Given the description of an element on the screen output the (x, y) to click on. 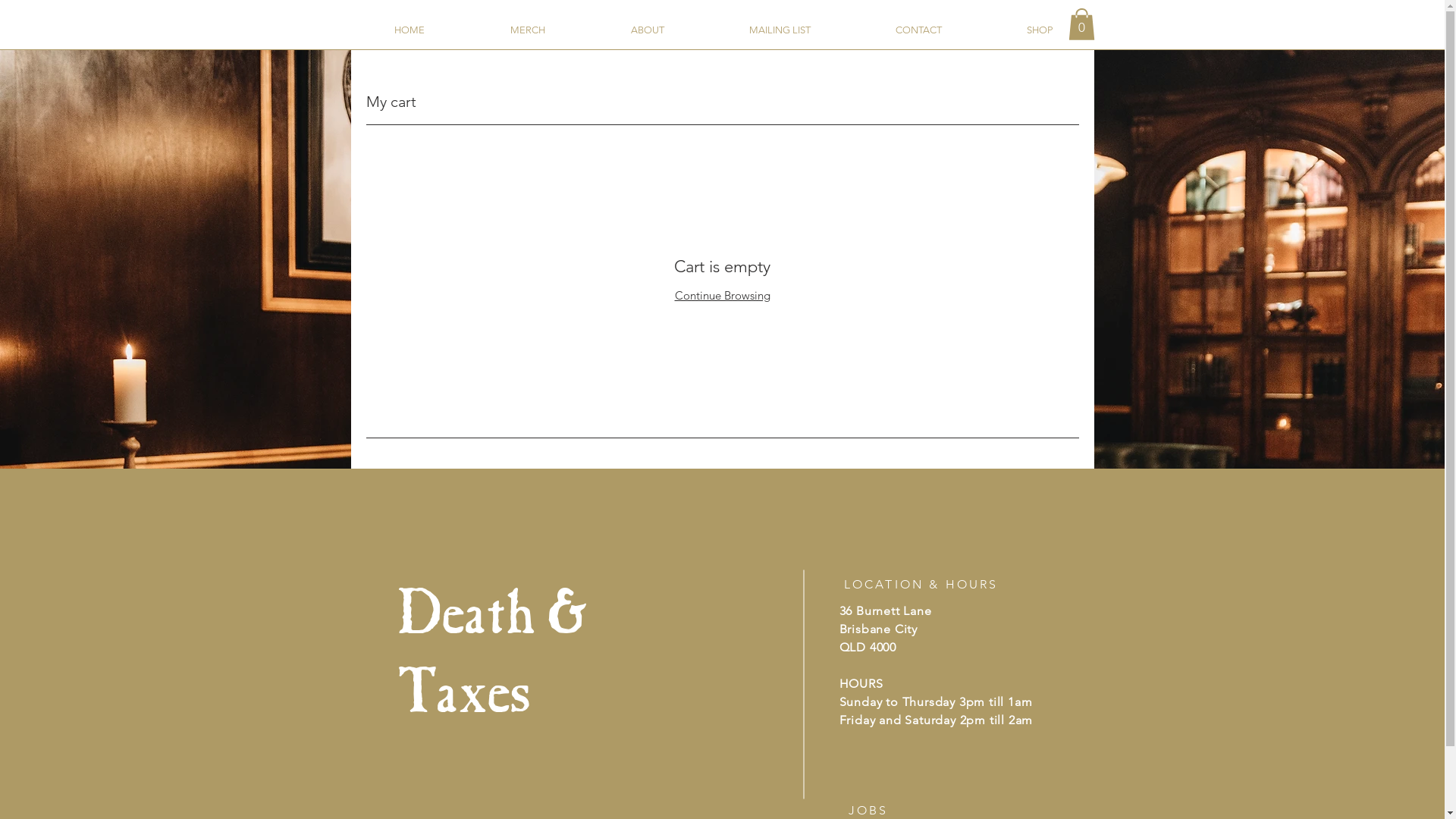
Continue Browsing Element type: text (722, 295)
ABOUT Element type: text (647, 29)
CONTACT Element type: text (917, 29)
MAILING LIST Element type: text (779, 29)
HOME Element type: text (409, 29)
MERCH Element type: text (527, 29)
SHOP Element type: text (1039, 29)
0 Element type: text (1080, 24)
